Given the description of an element on the screen output the (x, y) to click on. 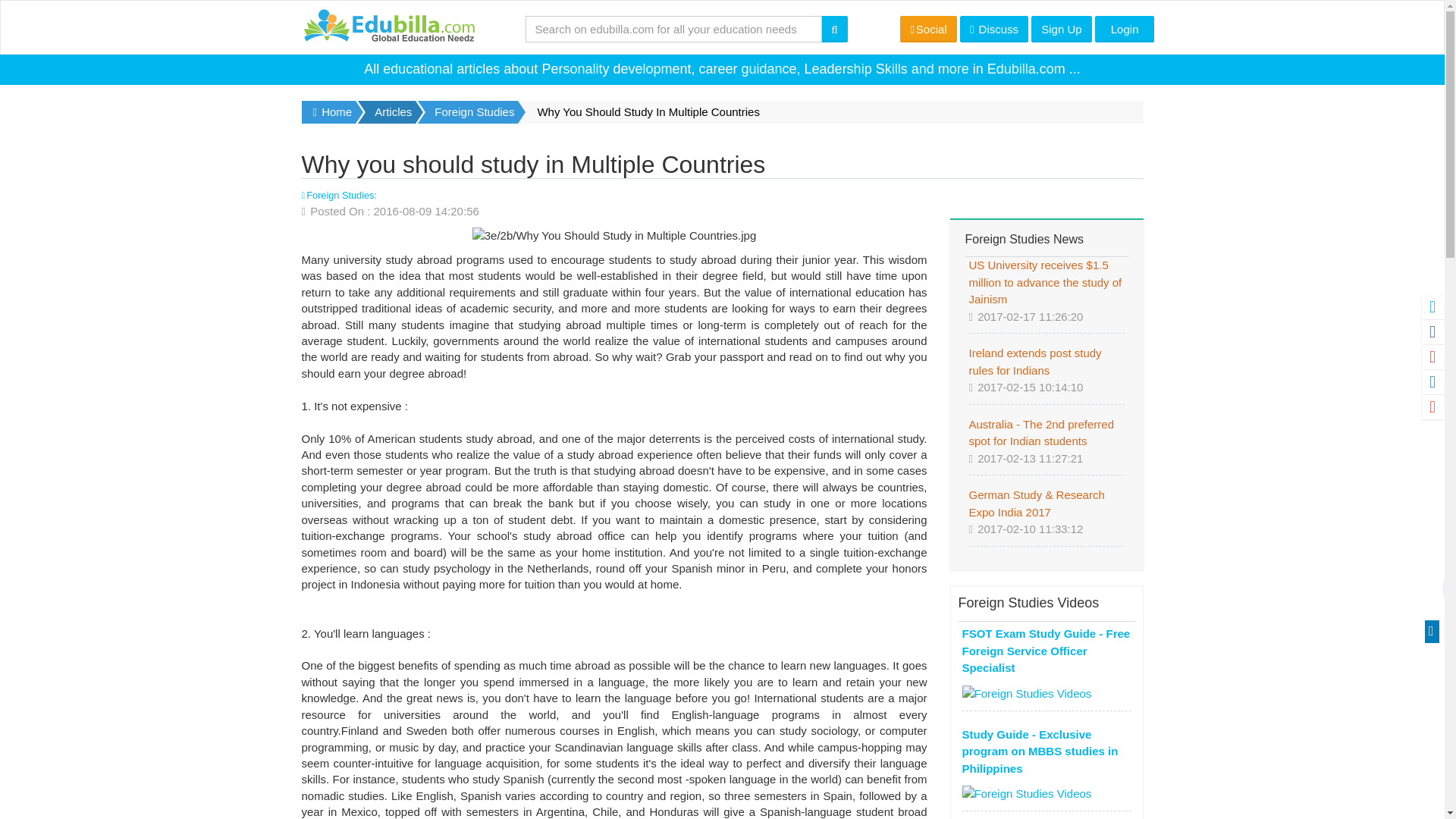
Foreign Studies: (339, 194)
Edubilla.com - Education Portal (388, 26)
Discuss (993, 28)
Social (927, 28)
Home (328, 111)
Login (1124, 28)
Socialize (927, 28)
Discussion Home (993, 28)
Australia - The 2nd preferred spot for Indian students (1042, 432)
Ireland extends post study rules for Indians (1035, 361)
Articles (393, 111)
Foreign Studies (475, 111)
Sign Up (1060, 28)
